Given the description of an element on the screen output the (x, y) to click on. 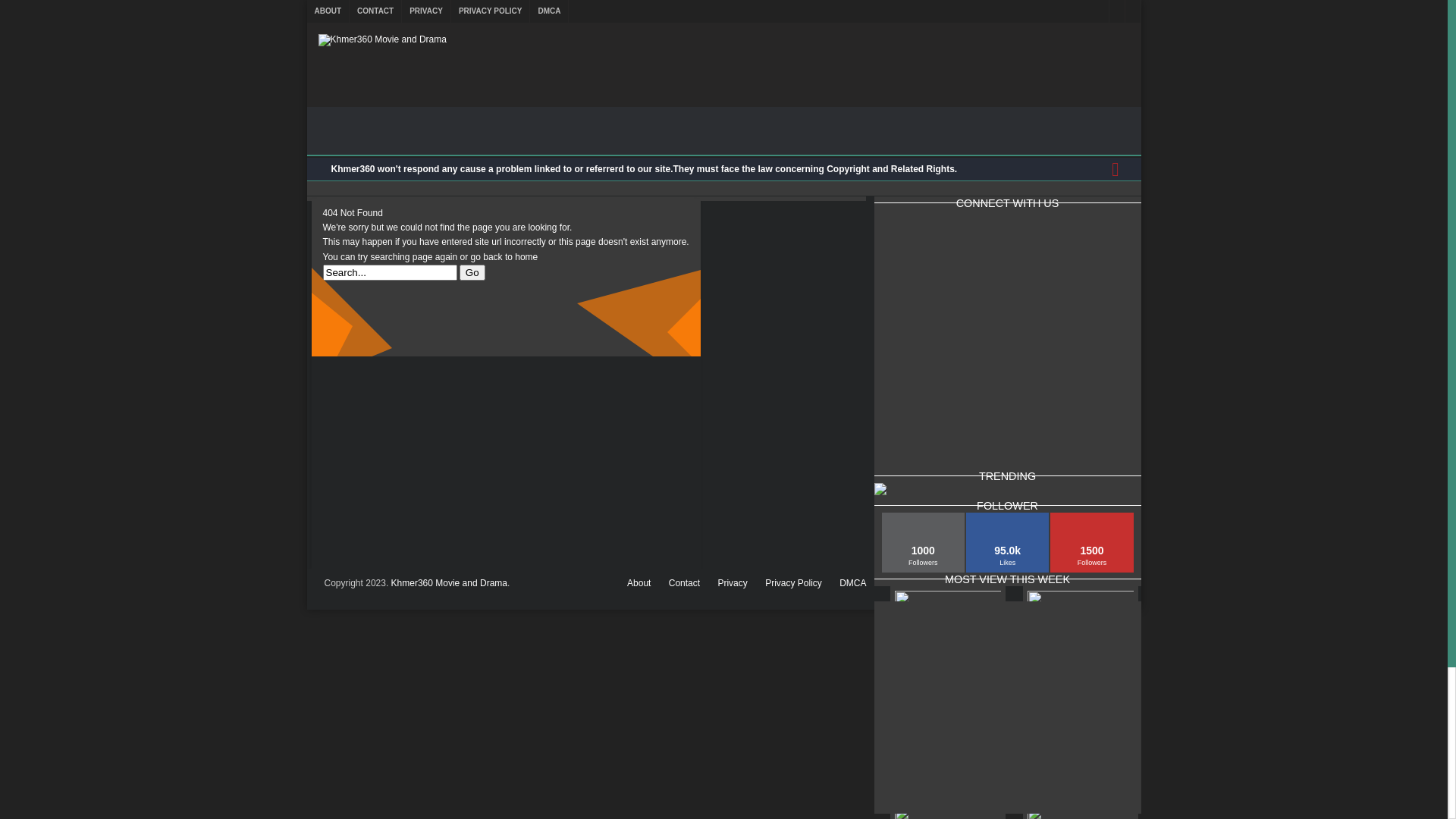
PRIVACY Element type: text (426, 11)
Privacy Policy Element type: text (793, 582)
PRIVACY POLICY Element type: text (490, 11)
About Element type: text (638, 582)
Follow our twitter Element type: hover (1116, 11)
DMCA Element type: text (852, 582)
ABOUT Element type: text (327, 11)
Khmer360 Element type: hover (1133, 11)
Like Facebook Page Element type: hover (1101, 11)
CONTACT Element type: text (375, 11)
Privacy Element type: text (731, 582)
Contact Element type: text (683, 582)
Louch Sne Lok SvaMey [38End] Element type: text (943, 726)
Go Element type: text (472, 272)
Advertisement Element type: hover (504, 462)
Notification Element type: hover (722, 168)
View More Element type: hover (1006, 232)
Khmer360 Movie and Drama Element type: text (449, 582)
Advertisement Element type: hover (1006, 363)
DMCA Element type: text (549, 11)
Artkombang Vinhean Plous [40END] Element type: text (1075, 726)
